Given the description of an element on the screen output the (x, y) to click on. 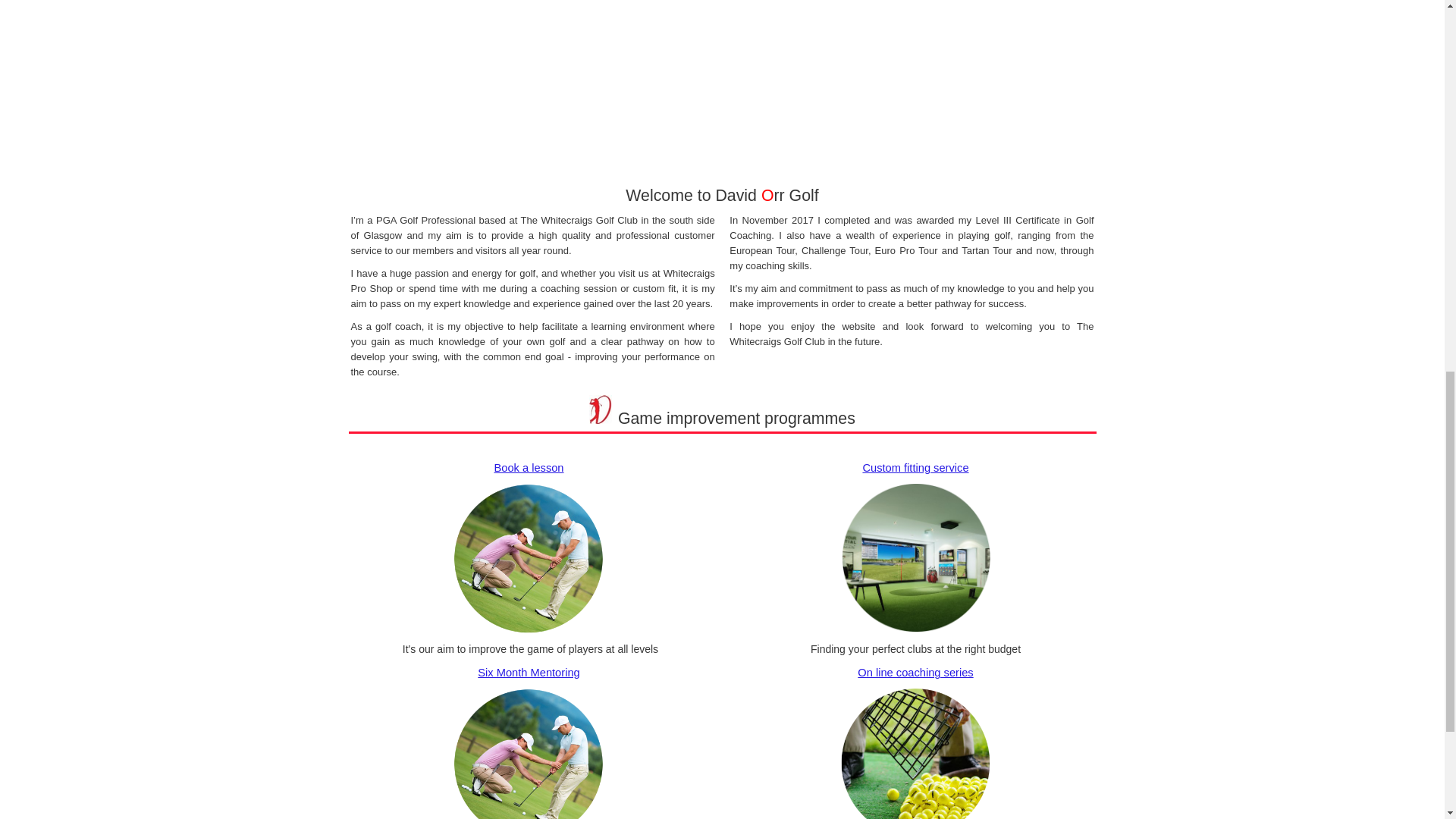
Six Month Mentoring (528, 672)
Book a lesson (528, 467)
Custom fitting service (914, 467)
On line coaching series (914, 672)
